Given the description of an element on the screen output the (x, y) to click on. 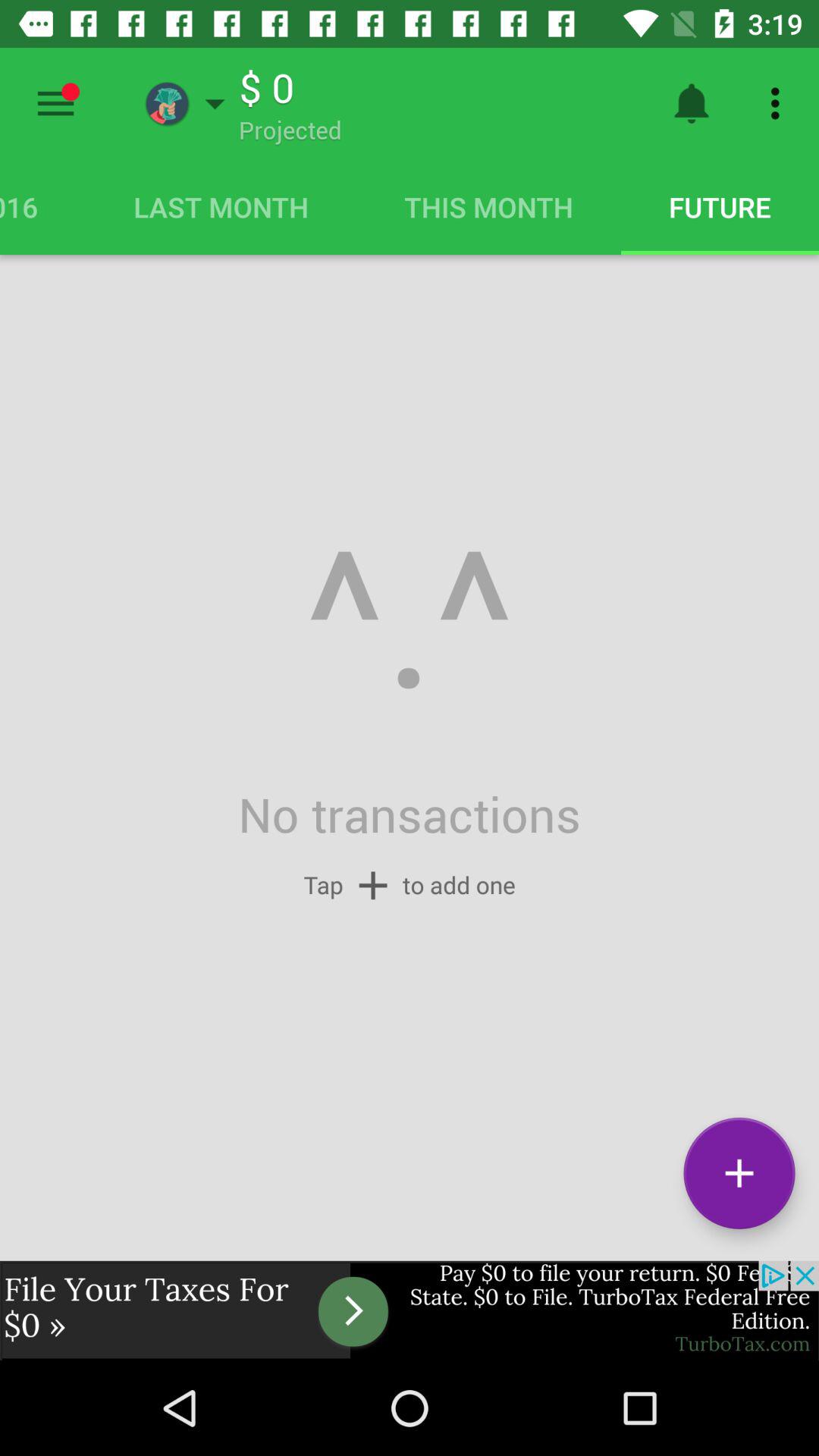
compartilhar artigo (55, 103)
